Given the description of an element on the screen output the (x, y) to click on. 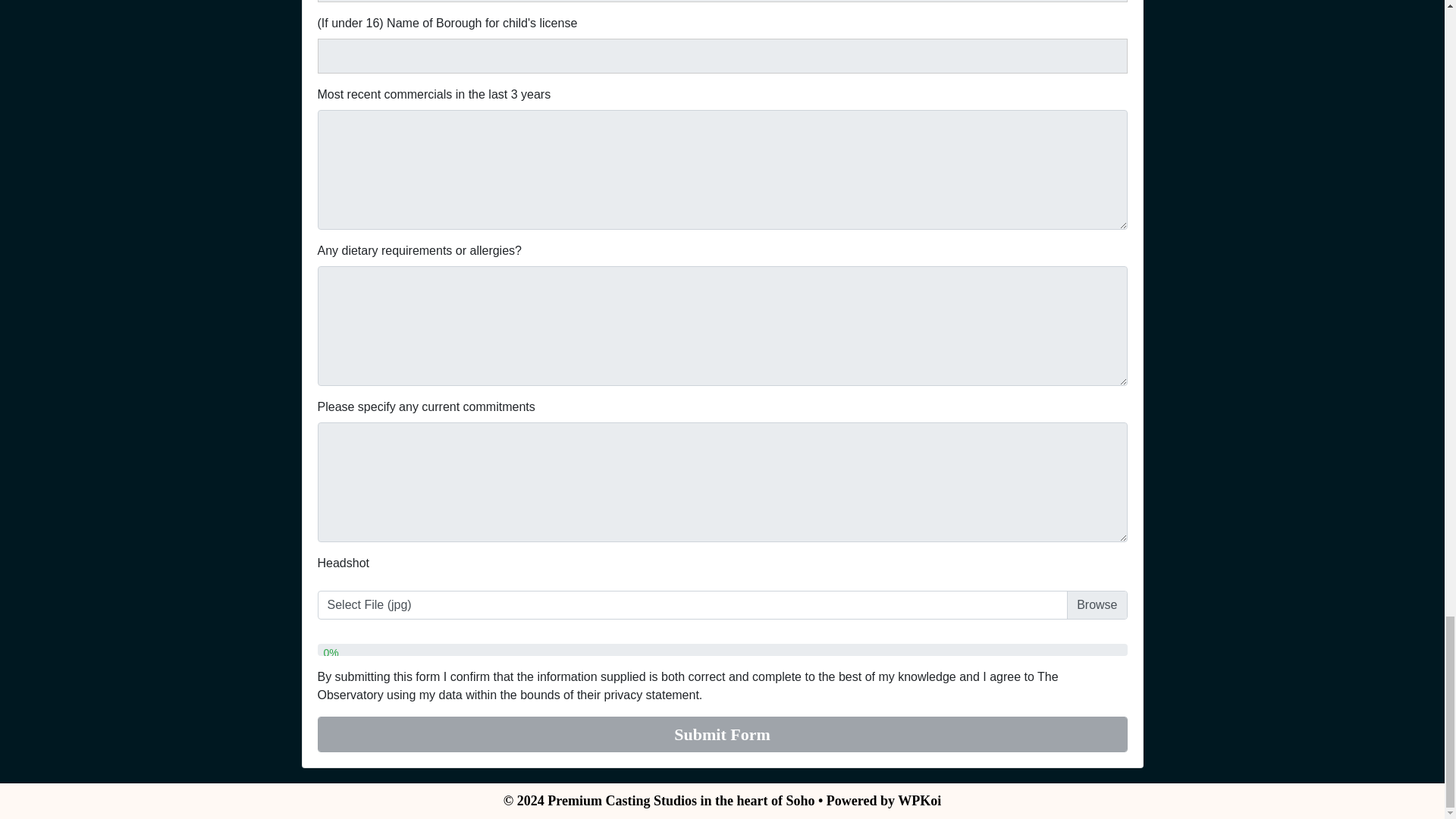
Submit Form (721, 734)
WPKoi (919, 800)
